Given the description of an element on the screen output the (x, y) to click on. 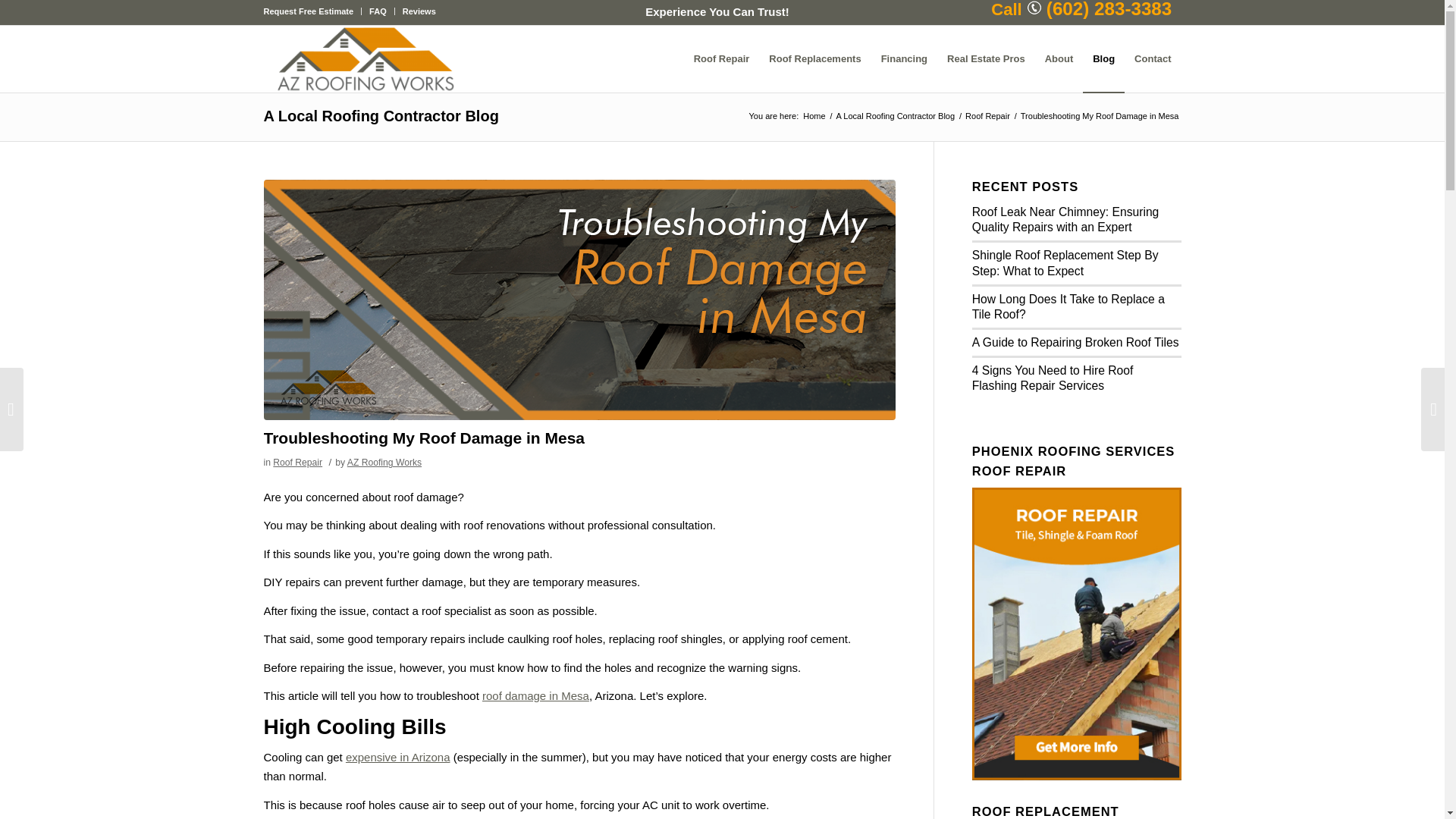
Roof Repair (297, 462)
Home (813, 116)
Roof Repair (722, 58)
How Long Does It Take to Replace a Tile Roof? (1068, 306)
FAQ (378, 11)
Request Free Estimate (308, 11)
Roof Replacements (814, 58)
Roof Repair (986, 116)
expensive in Arizona (397, 757)
Posts by AZ Roofing Works (384, 462)
A Local Roofing Contractor Blog (896, 116)
A Local Roofing Contractor Blog (381, 115)
Real Estate Pros (986, 58)
Troubleshooting My Roof Damage in Mesa (424, 437)
